Given the description of an element on the screen output the (x, y) to click on. 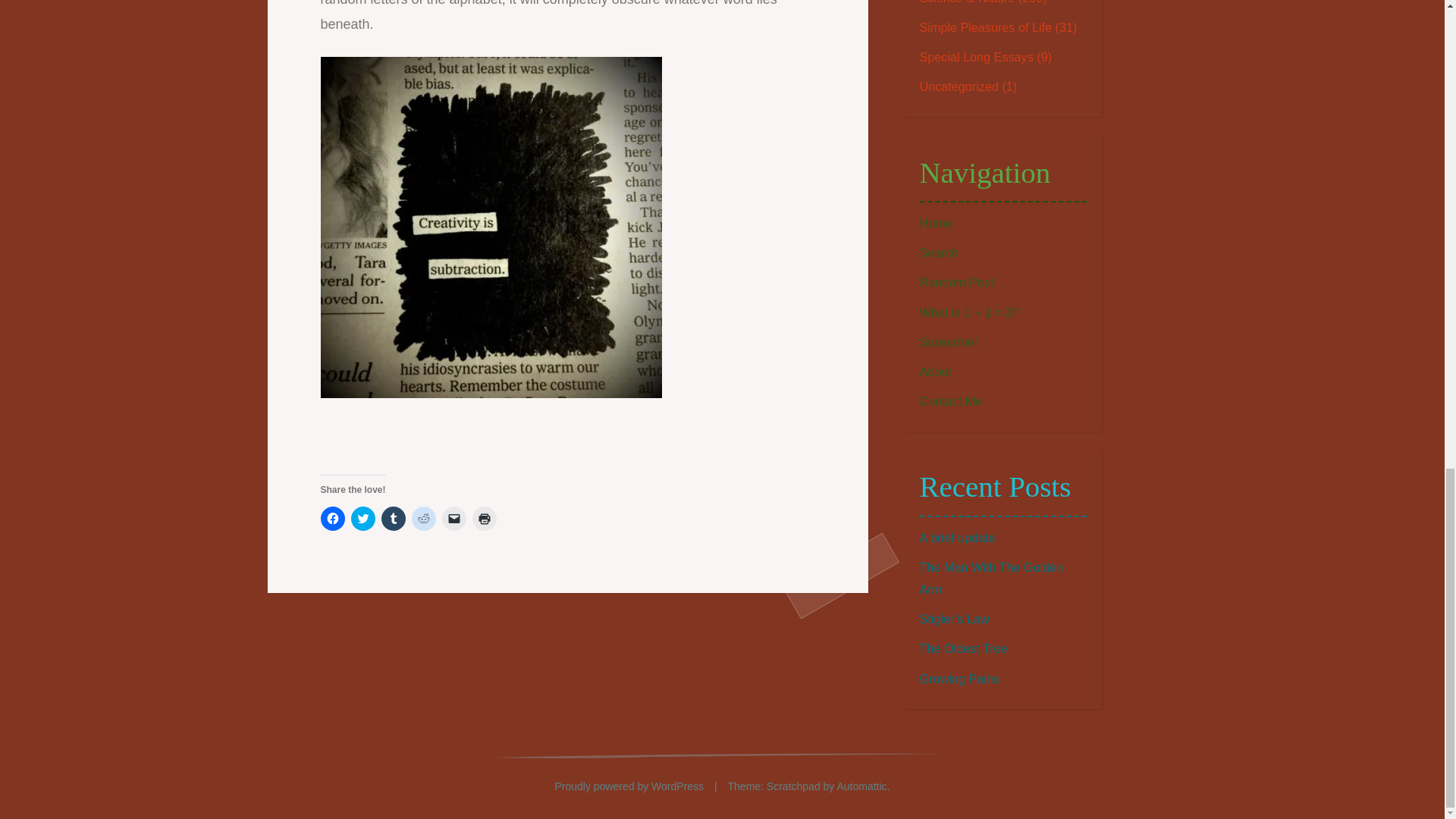
Home (935, 223)
Contact Me (949, 400)
Uncategorized (957, 86)
Special Long Essays (975, 56)
Click to print (483, 518)
Click to share on Twitter (362, 518)
Click to share on Reddit (422, 518)
Search (938, 252)
Subscribe! (947, 341)
Simple Pleasures of Life (984, 27)
